Given the description of an element on the screen output the (x, y) to click on. 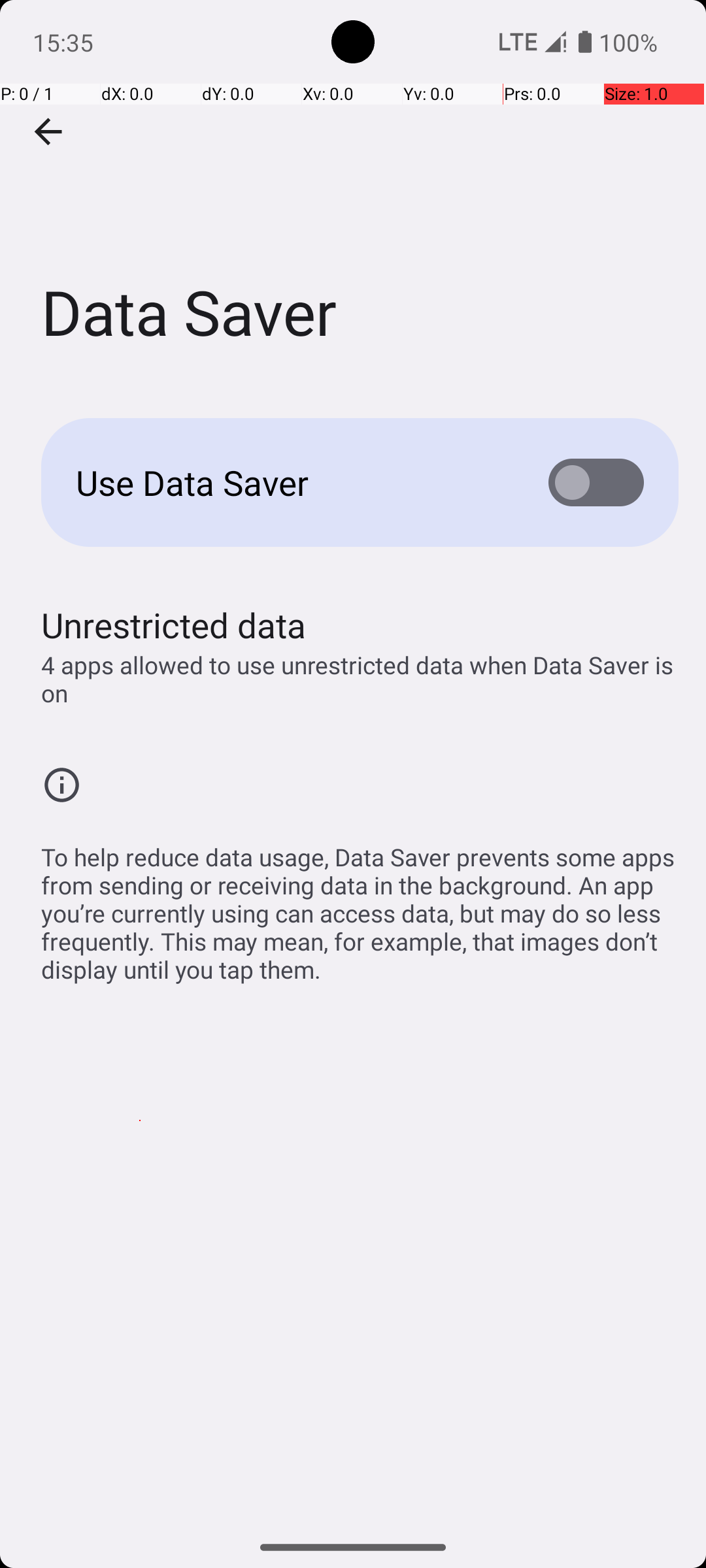
Use Data Saver Element type: android.widget.TextView (291, 482)
Unrestricted data Element type: android.widget.TextView (173, 624)
4 apps allowed to use unrestricted data when Data Saver is on Element type: android.widget.TextView (359, 678)
To help reduce data usage, Data Saver prevents some apps from sending or receiving data in the background. An app you’re currently using can access data, but may do so less frequently. This may mean, for example, that images don’t display until you tap them. Element type: android.widget.TextView (359, 905)
